Given the description of an element on the screen output the (x, y) to click on. 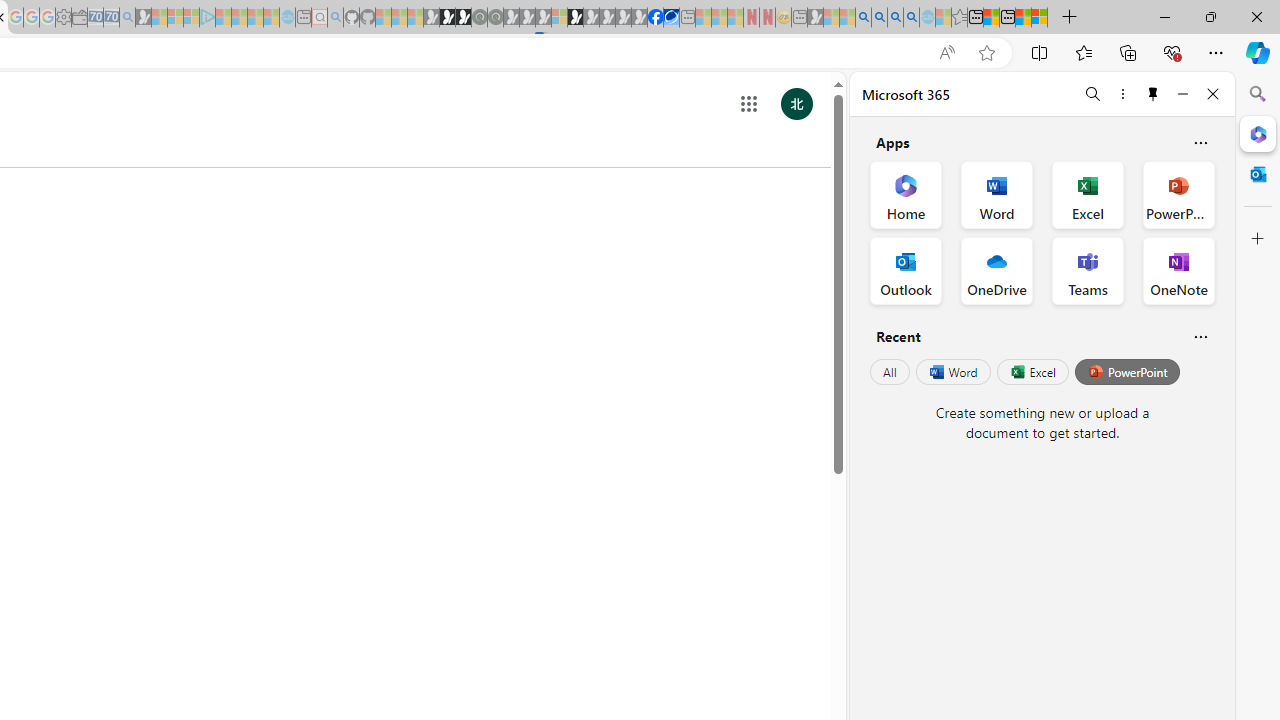
2009 Bing officially replaced Live Search on June 3 - Search (879, 17)
Word Office App (996, 194)
Excel Office App (1087, 194)
Home Office App (906, 194)
All (890, 372)
Teams Office App (1087, 270)
